Given the description of an element on the screen output the (x, y) to click on. 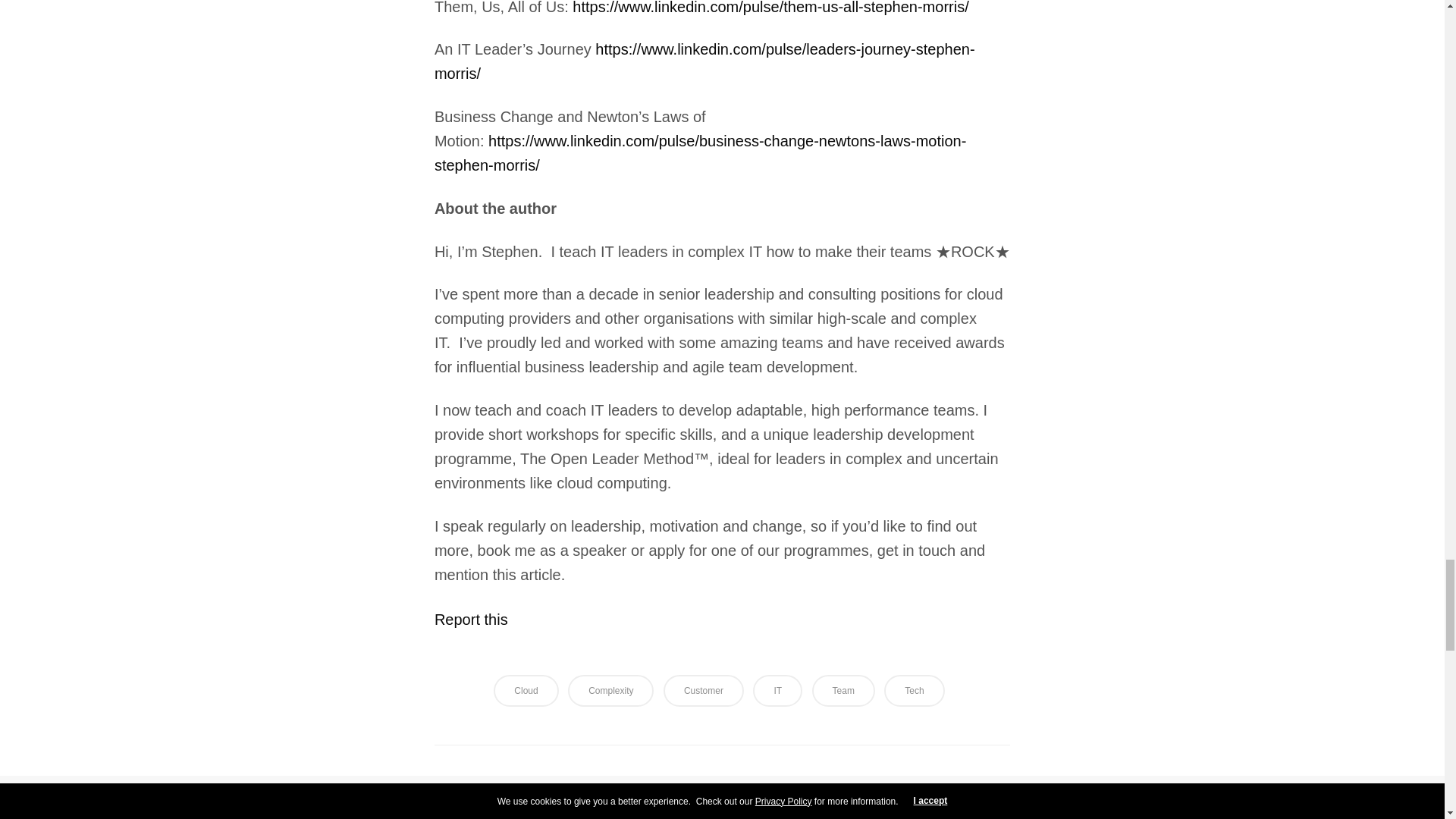
Complexity (610, 690)
Report this (470, 619)
Customer (703, 690)
IT (777, 690)
Cloud (525, 690)
Tech (913, 690)
Team (843, 690)
